Given the description of an element on the screen output the (x, y) to click on. 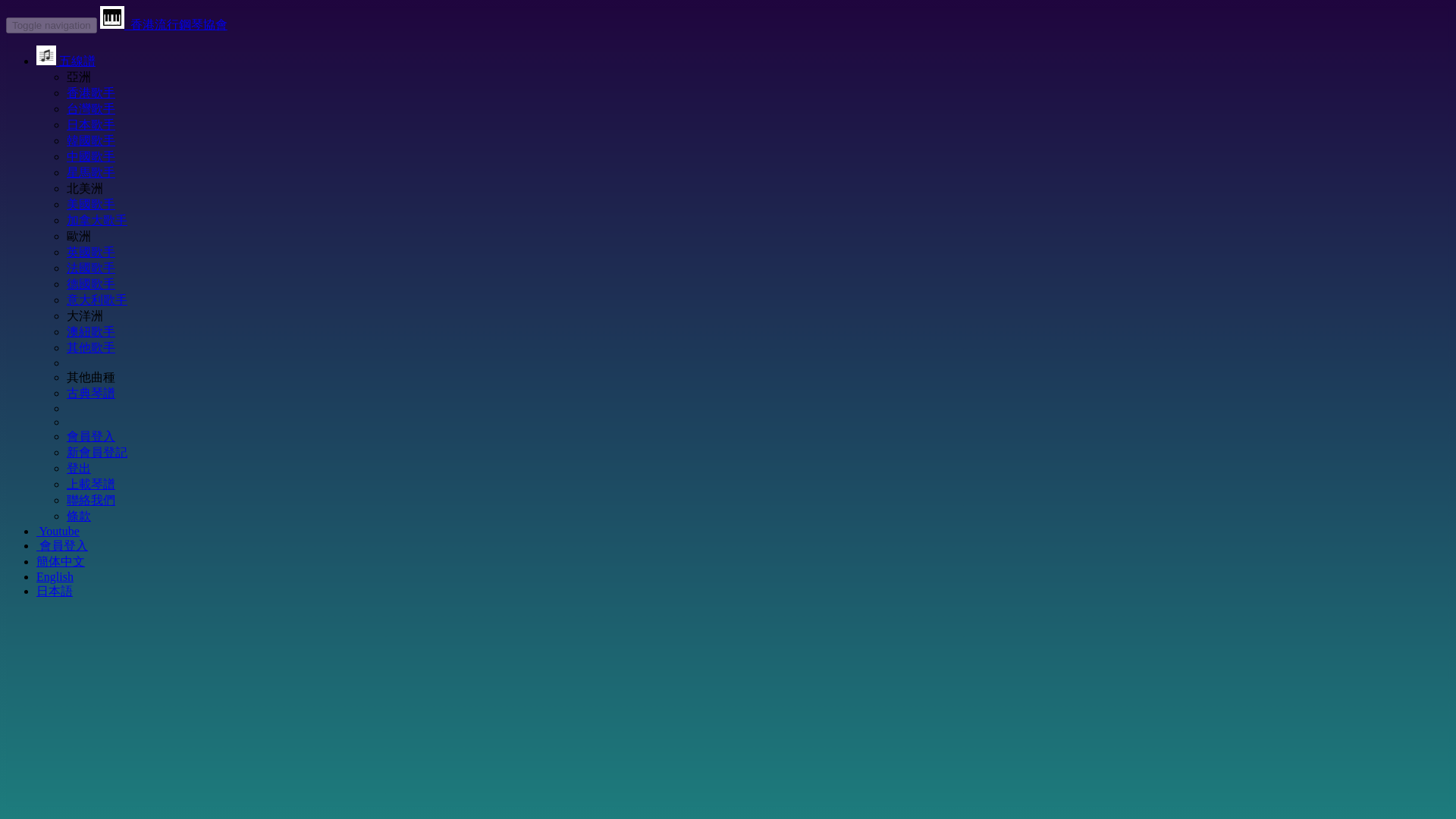
English (55, 576)
 Youtube (58, 530)
Toggle navigation (51, 25)
